Given the description of an element on the screen output the (x, y) to click on. 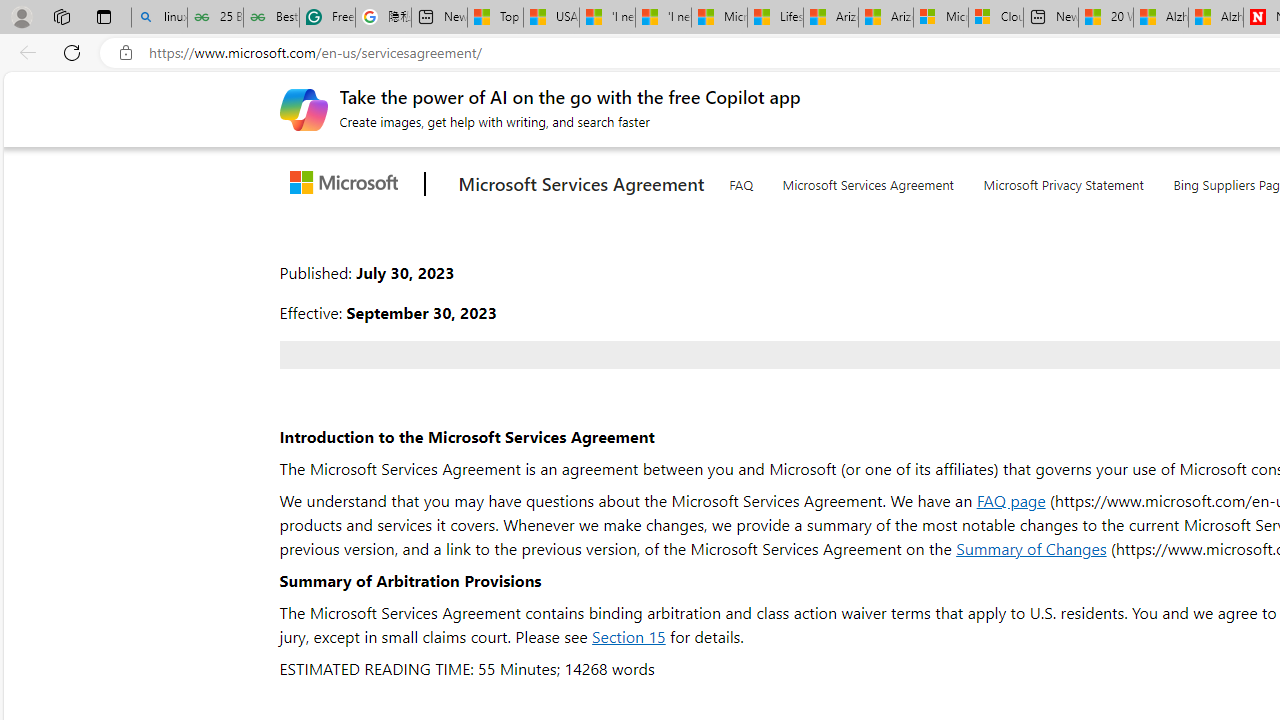
Microsoft Privacy Statement (1063, 181)
Microsoft Privacy Statement (1063, 180)
Top Stories - MSN (495, 17)
Lifestyle - MSN (774, 17)
FAQ page (1010, 500)
Section 15 (628, 636)
Microsoft Services Agreement (868, 181)
Create images, get help with writing, and search faster (303, 108)
FAQ (740, 181)
FAQ (740, 180)
Summary of Changes (1031, 547)
